Given the description of an element on the screen output the (x, y) to click on. 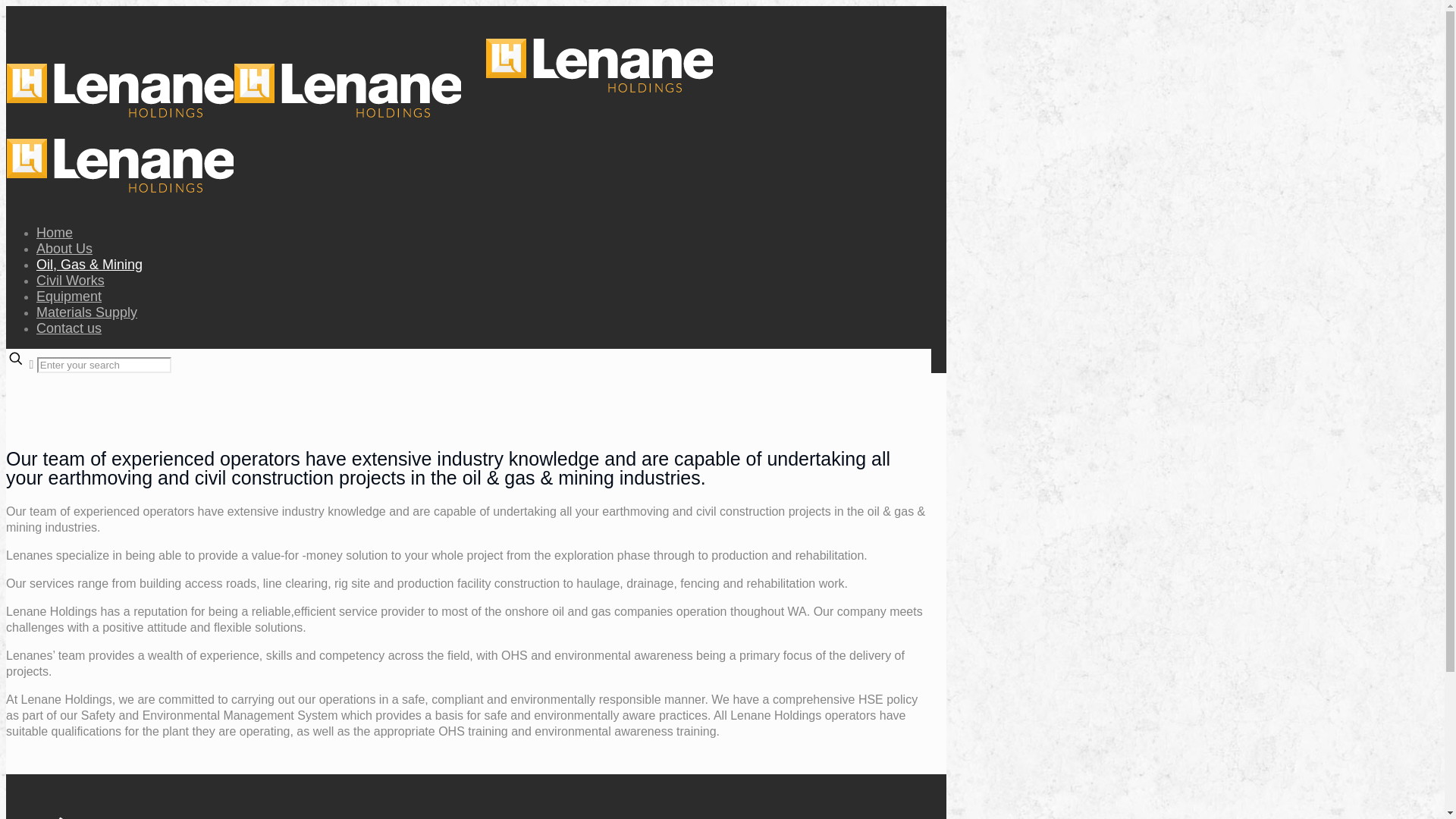
Contact us Element type: text (68, 328)
Lenane Holdings Element type: hover (372, 152)
Civil Works Element type: text (70, 280)
Equipment Element type: text (68, 296)
About Us Element type: text (64, 248)
Materials Supply Element type: text (86, 312)
Home Element type: text (54, 232)
Oil, Gas & Mining Element type: text (89, 264)
